Given the description of an element on the screen output the (x, y) to click on. 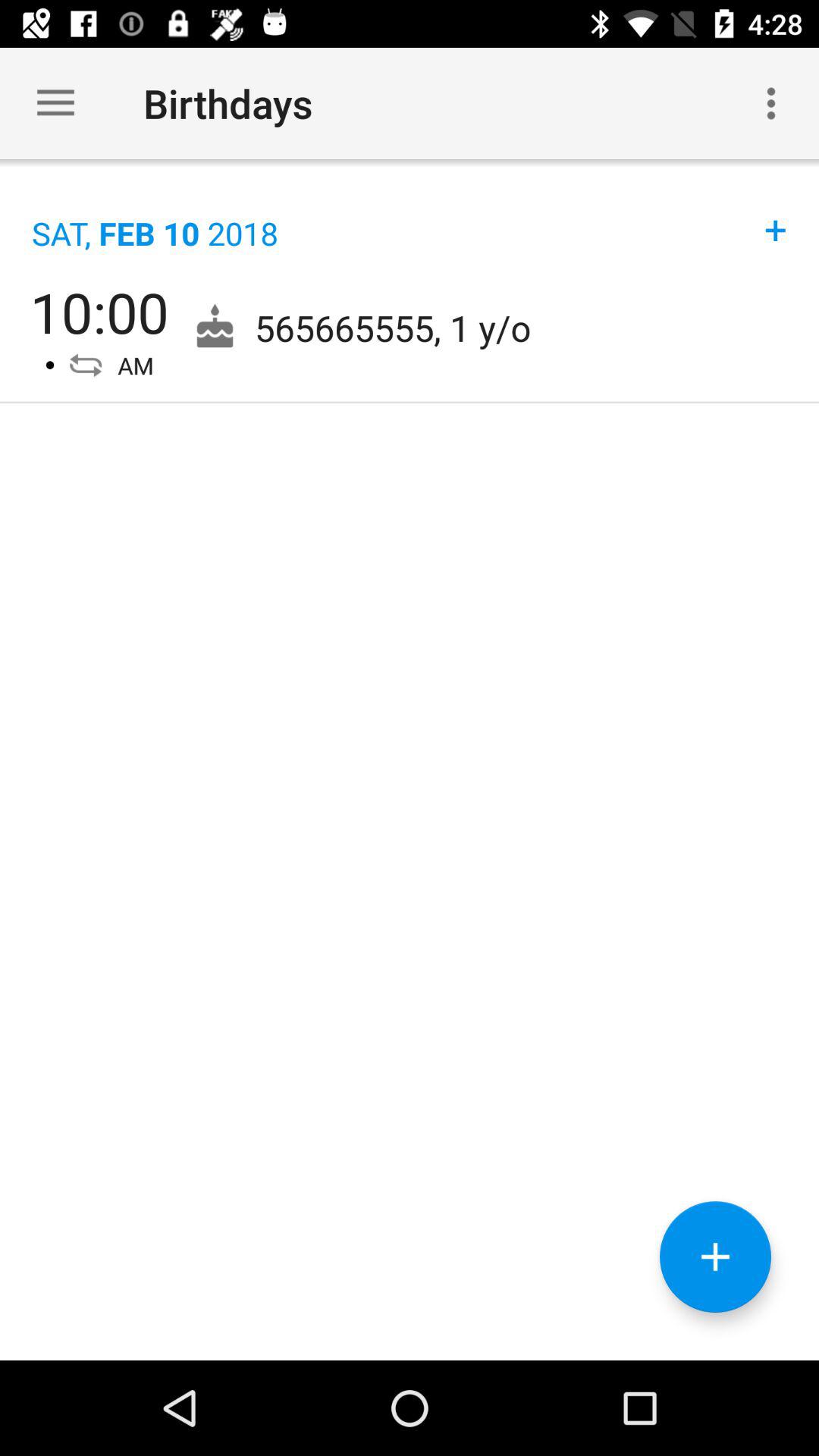
add more (715, 1256)
